Given the description of an element on the screen output the (x, y) to click on. 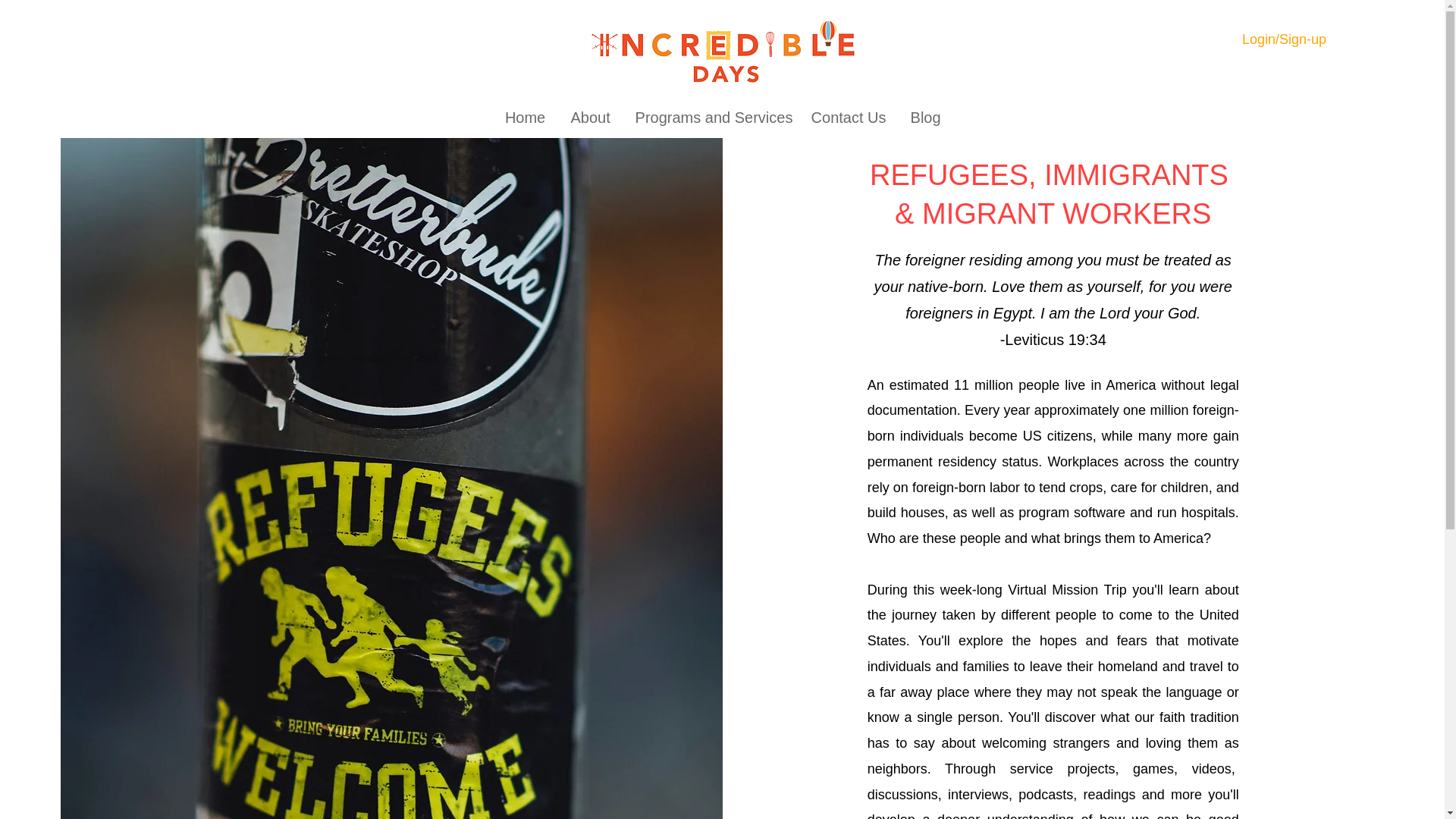
Programs and Services (711, 117)
Contact Us (848, 117)
Home (525, 117)
About (590, 117)
Blog (925, 117)
